Given the description of an element on the screen output the (x, y) to click on. 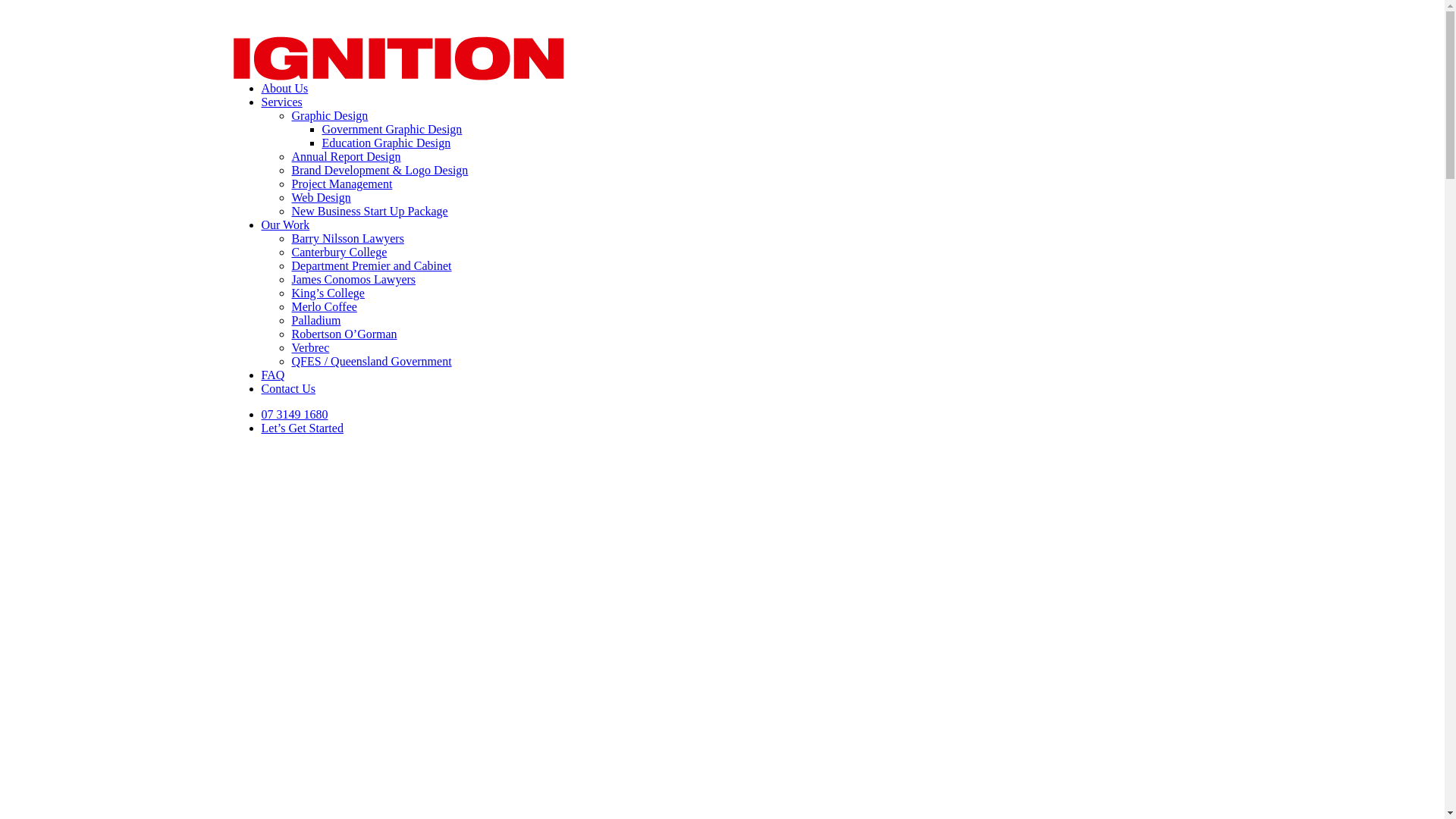
Graphic Design Element type: text (329, 115)
Annual Report Design Element type: text (345, 156)
FAQ Element type: text (272, 374)
Contact Us Element type: text (287, 388)
Our Work Element type: text (284, 224)
Palladium Element type: text (315, 319)
Merlo Coffee Element type: text (323, 306)
Department Premier and Cabinet Element type: text (371, 265)
Project Management Element type: text (341, 183)
07 3149 1680 Element type: text (293, 413)
Brand Development & Logo Design Element type: text (379, 169)
QFES / Queensland Government Element type: text (371, 360)
Services Element type: text (280, 101)
New Business Start Up Package Element type: text (369, 210)
Education Graphic Design Element type: text (385, 142)
Barry Nilsson Lawyers Element type: text (347, 238)
Government Graphic Design Element type: text (391, 128)
Canterbury College Element type: text (338, 251)
Verbrec Element type: text (310, 347)
About Us Element type: text (283, 87)
Web Design Element type: text (320, 197)
James Conomos Lawyers Element type: text (353, 279)
